Given the description of an element on the screen output the (x, y) to click on. 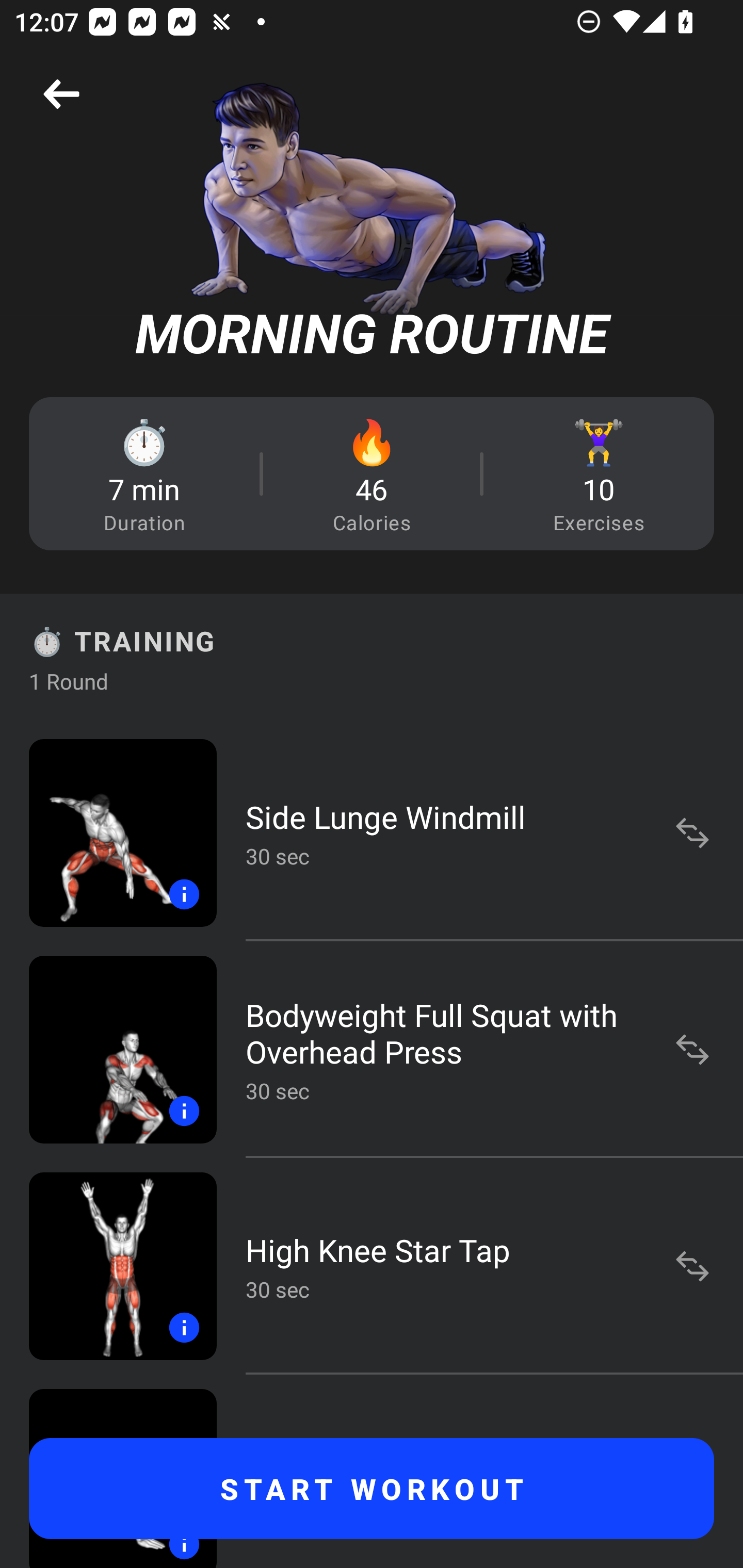
Side Lunge Windmill 30 sec (371, 832)
Bodyweight Full Squat with Overhead Press 30 sec (371, 1048)
High Knee Star Tap 30 sec (371, 1266)
START WORKOUT (371, 1488)
